Given the description of an element on the screen output the (x, y) to click on. 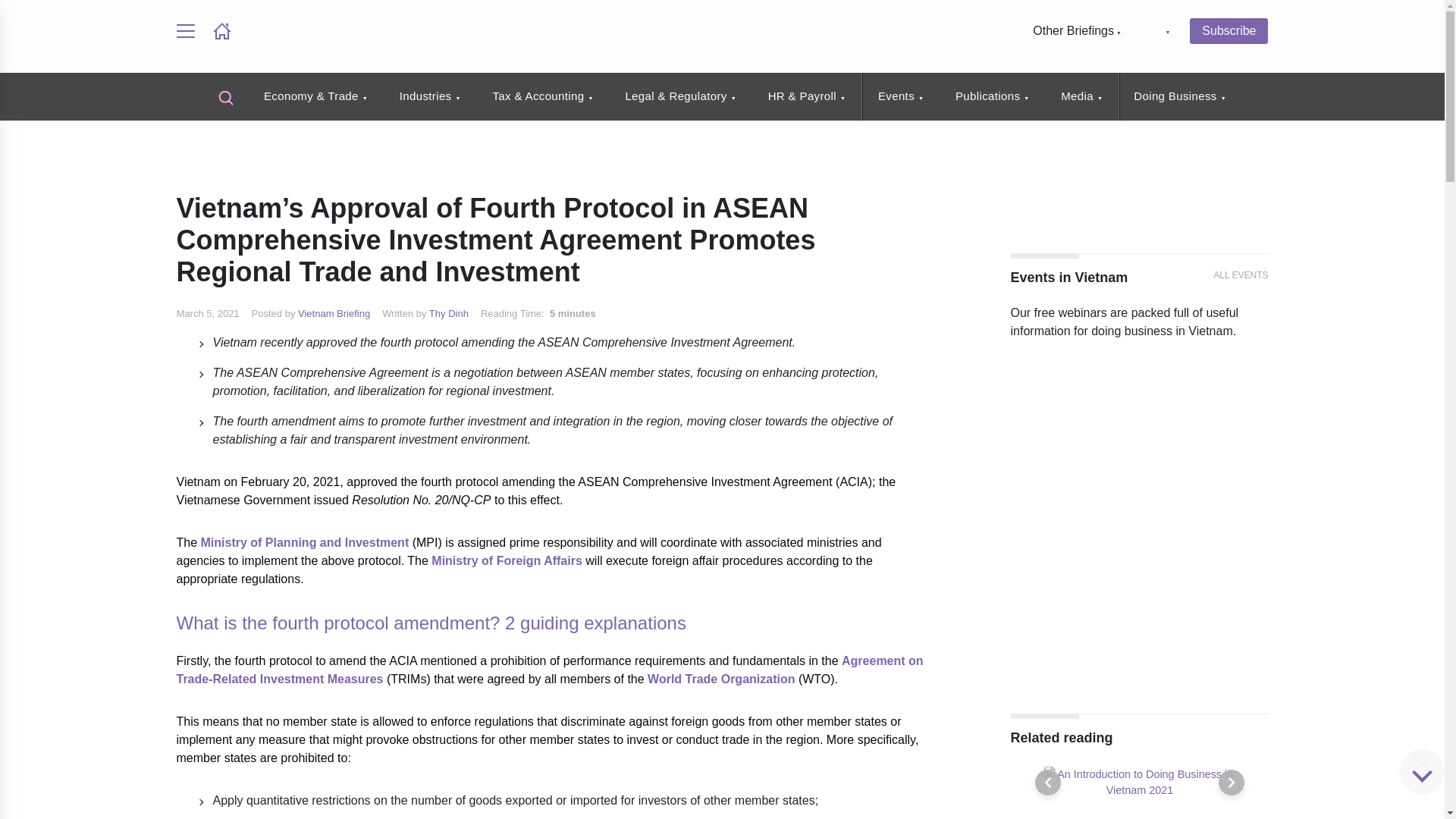
View all posts by Vietnam Briefing (333, 313)
